Given the description of an element on the screen output the (x, y) to click on. 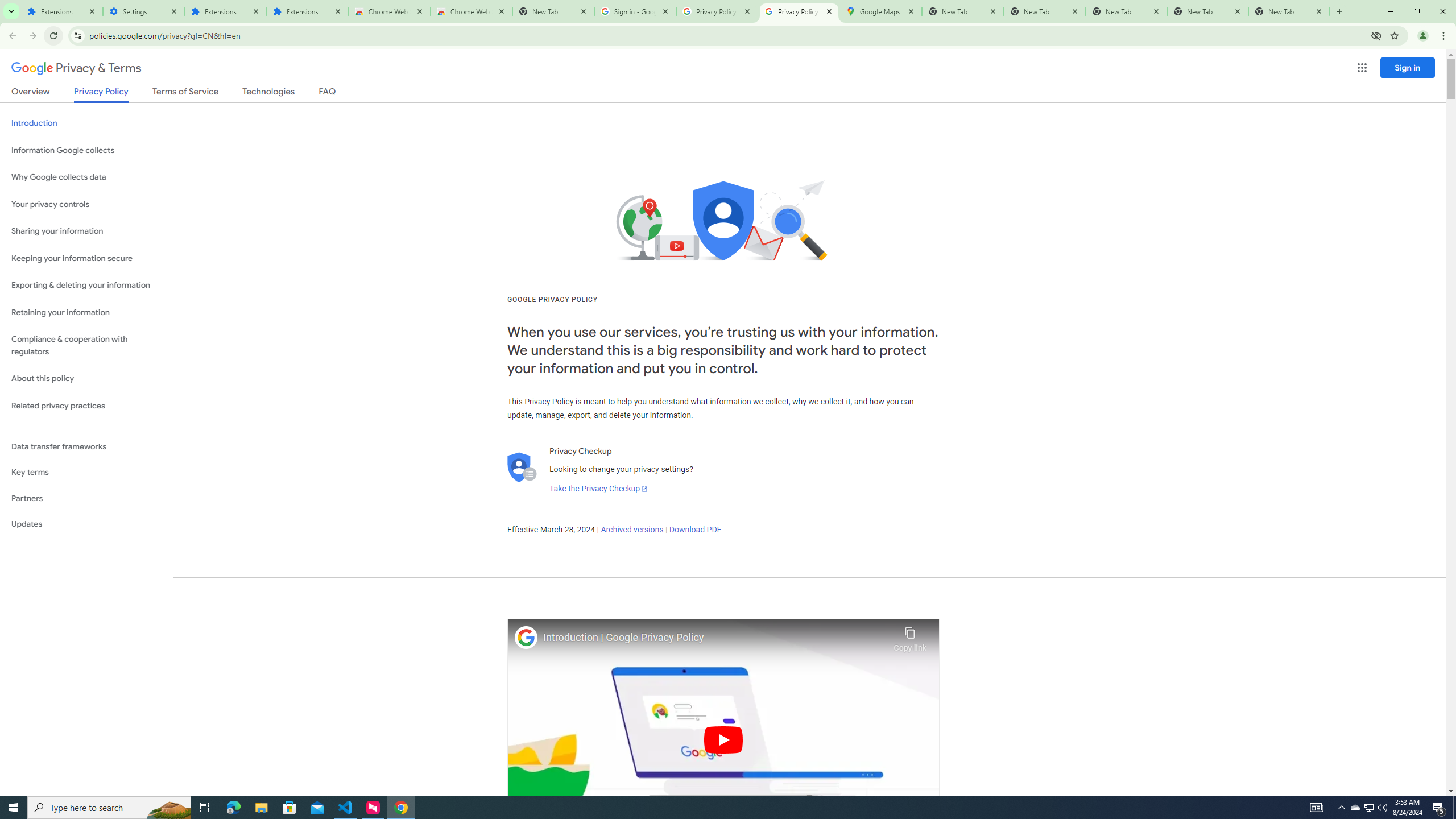
Why Google collects data (86, 176)
Play (723, 739)
Data transfer frameworks (86, 446)
Partners (86, 497)
Key terms (86, 472)
Chrome Web Store - Themes (470, 11)
